Given the description of an element on the screen output the (x, y) to click on. 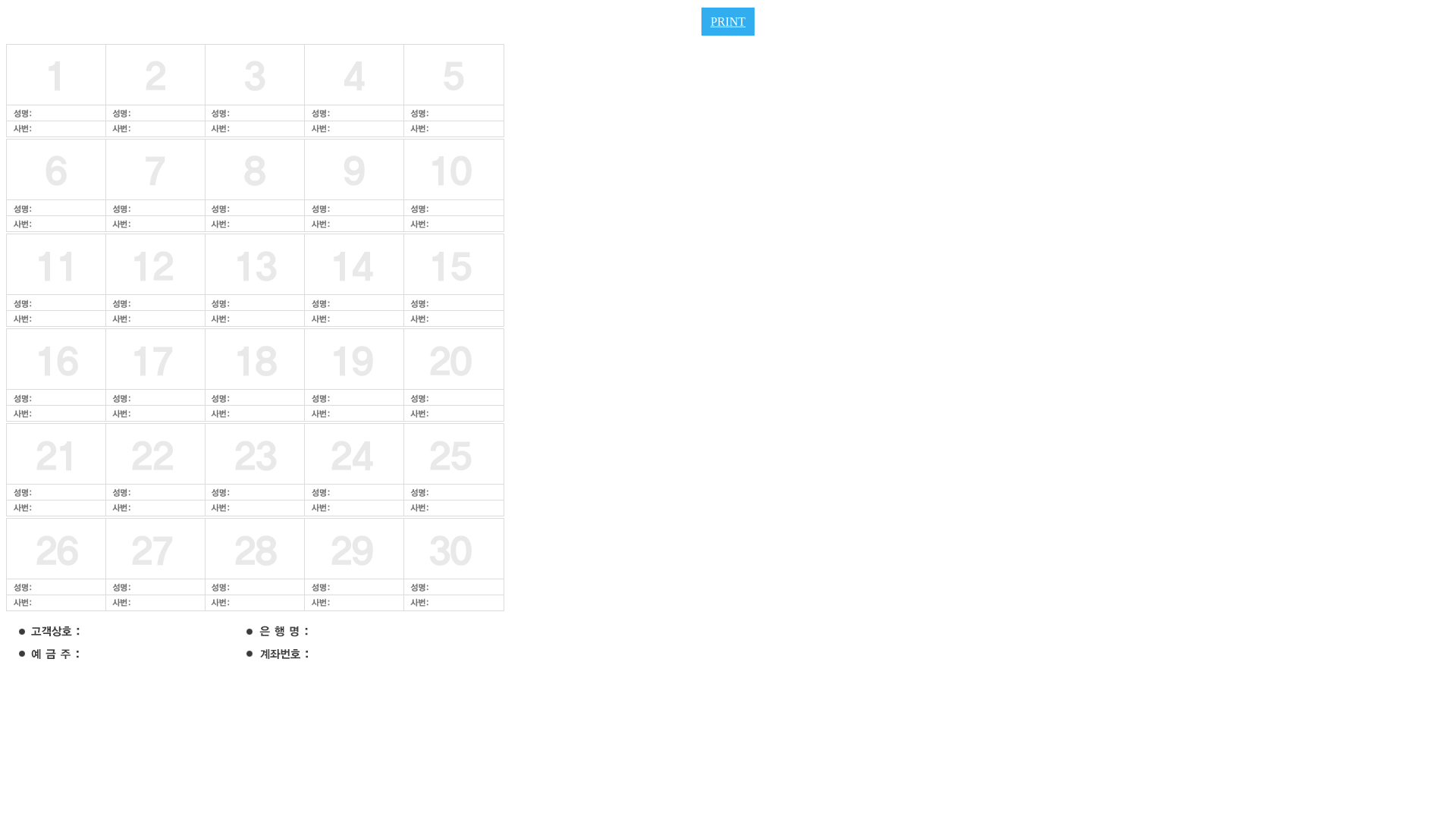
PRINT Element type: text (727, 21)
